Given the description of an element on the screen output the (x, y) to click on. 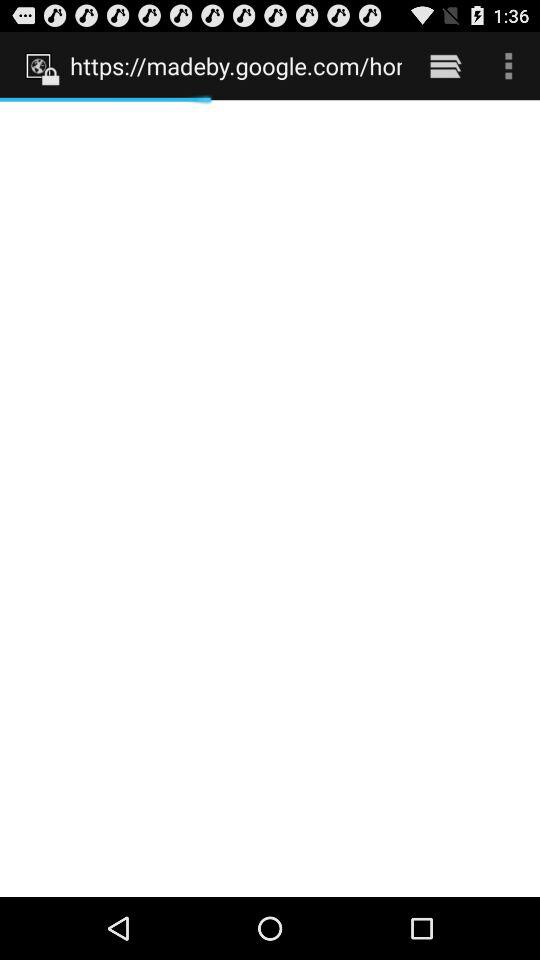
turn off item to the right of https madeby google item (444, 65)
